Given the description of an element on the screen output the (x, y) to click on. 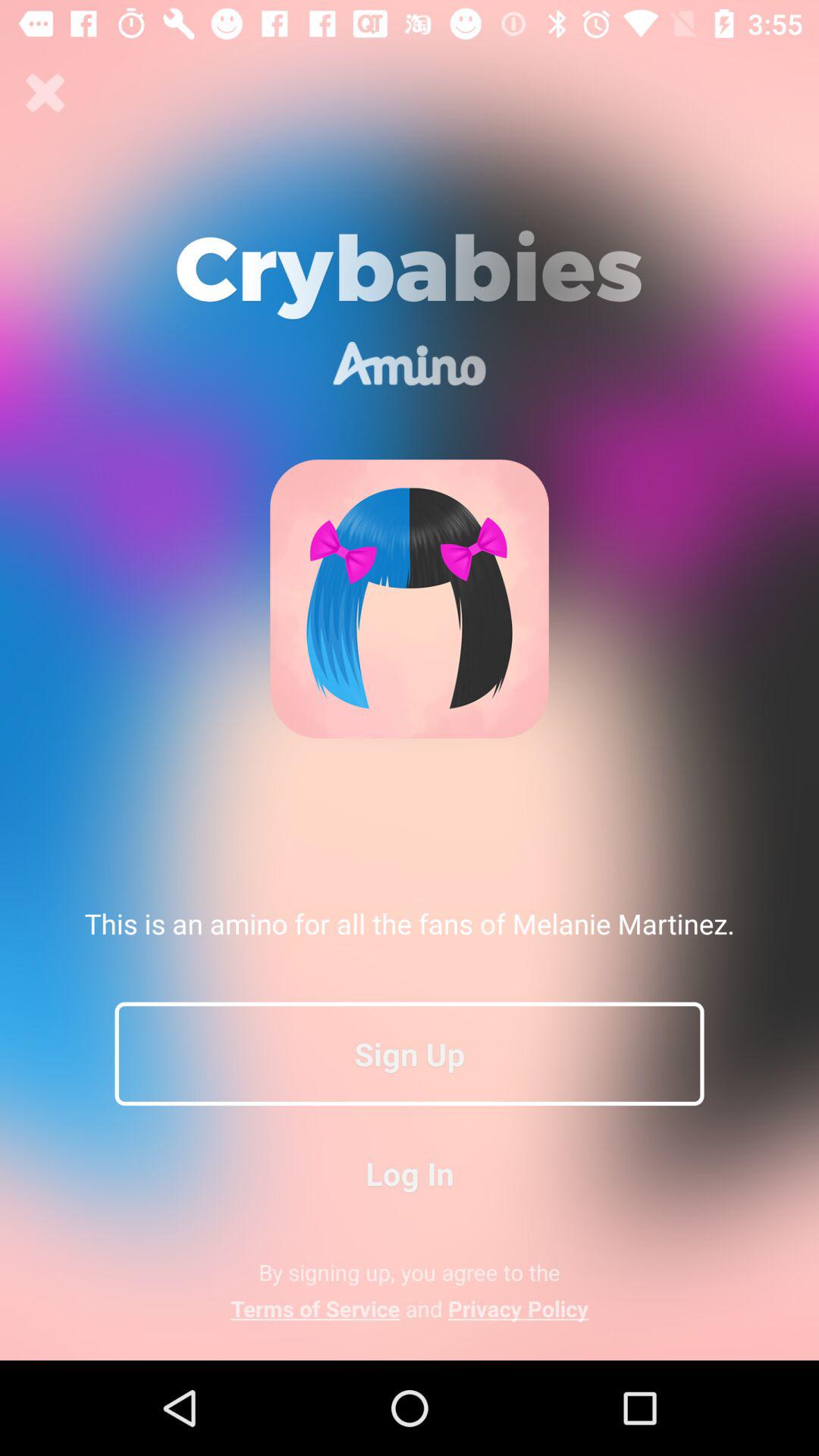
turn on the log in (409, 1173)
